Given the description of an element on the screen output the (x, y) to click on. 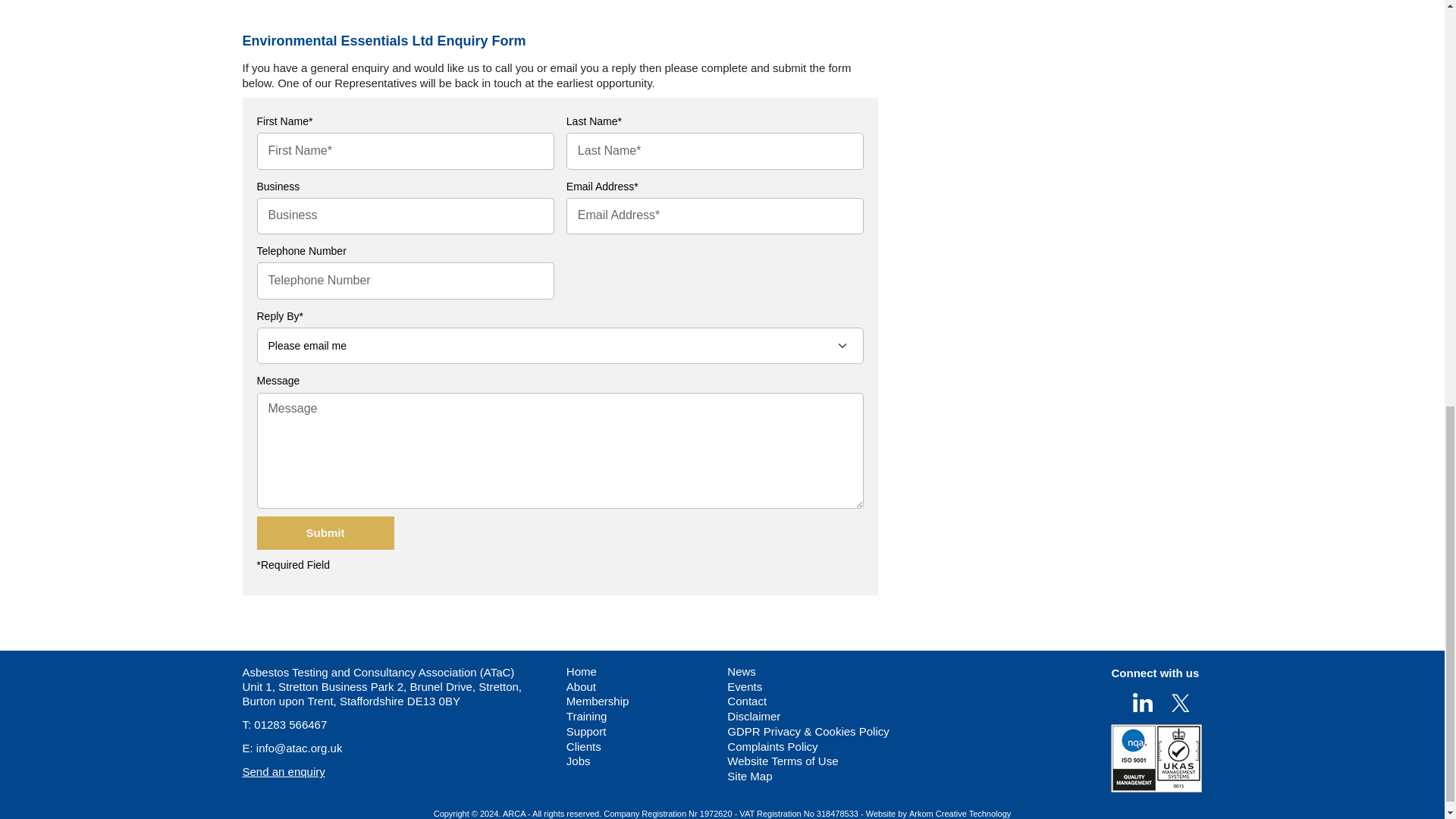
X (1179, 701)
Email us at:01283 566467 (289, 724)
Submit (324, 532)
Site created by Arkom Creative Technology (959, 813)
Contact Us (283, 771)
LinkedIn (1142, 701)
